Given the description of an element on the screen output the (x, y) to click on. 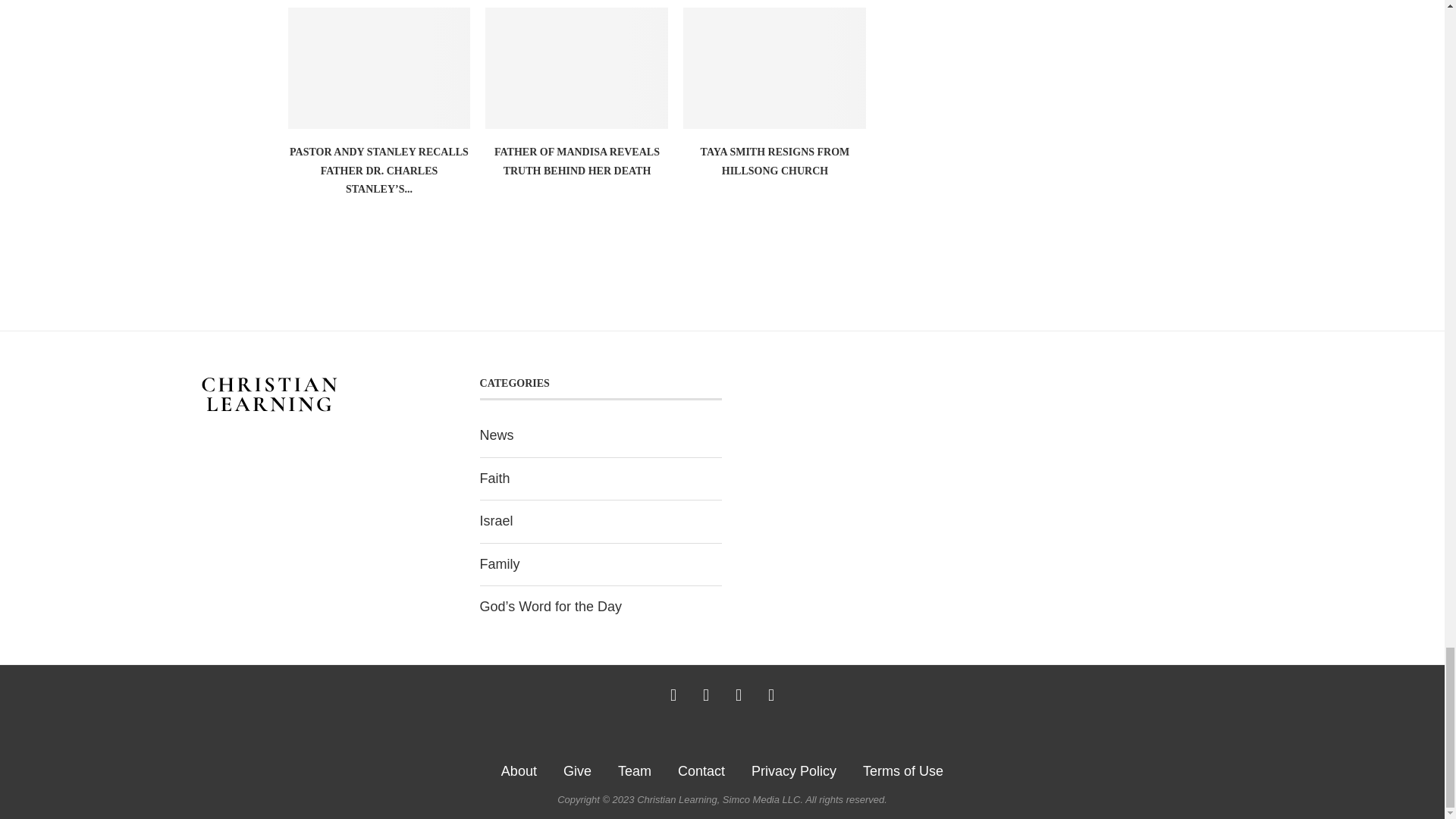
Father of Mandisa Reveals Truth Behind Her Death (576, 68)
Taya Smith Resigns From Hillsong Church (774, 68)
